Given the description of an element on the screen output the (x, y) to click on. 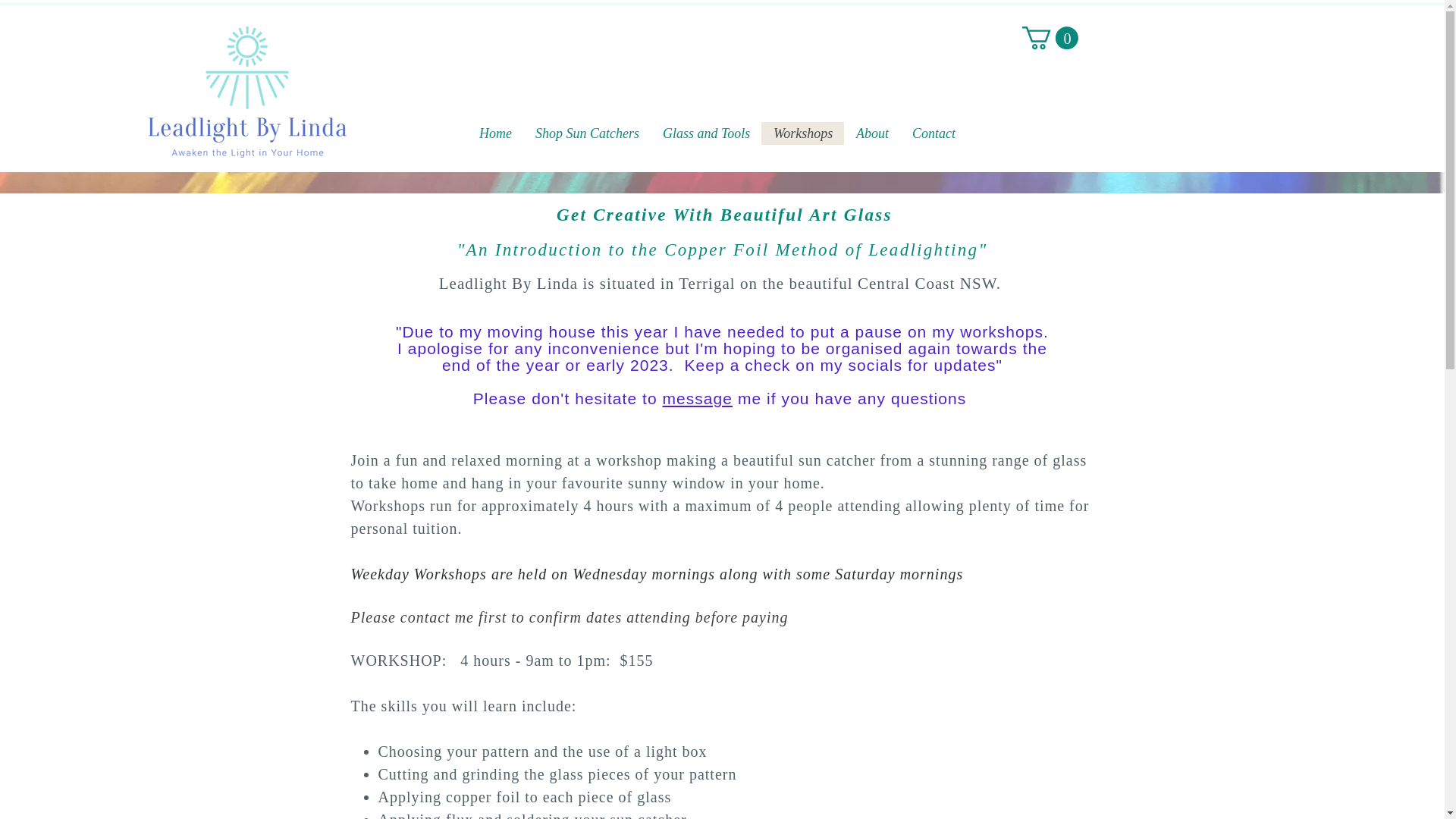
About Element type: text (872, 133)
Home Element type: text (495, 133)
message Element type: text (697, 398)
Contact Element type: text (933, 133)
Shop Sun Catchers Element type: text (586, 133)
Workshops Element type: text (802, 133)
0 Element type: text (1050, 37)
Glass and Tools Element type: text (705, 133)
